Given the description of an element on the screen output the (x, y) to click on. 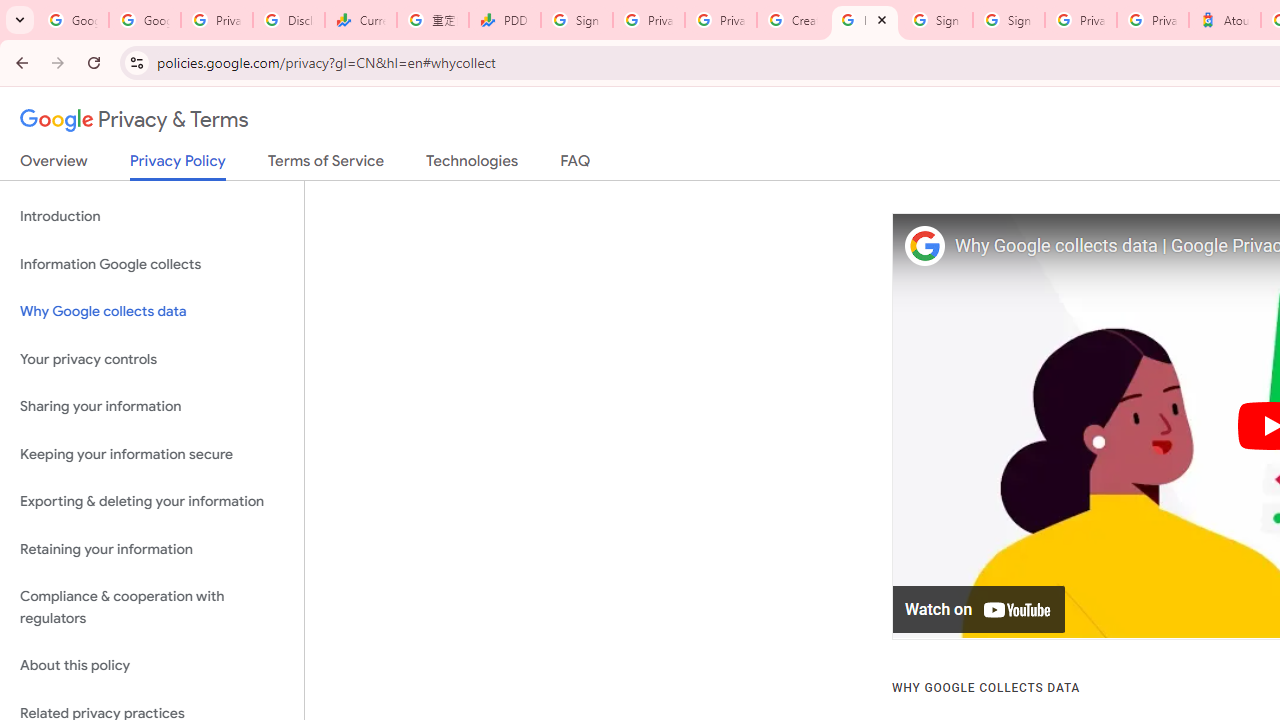
Atour Hotel - Google hotels (1224, 20)
Create your Google Account (792, 20)
